Given the description of an element on the screen output the (x, y) to click on. 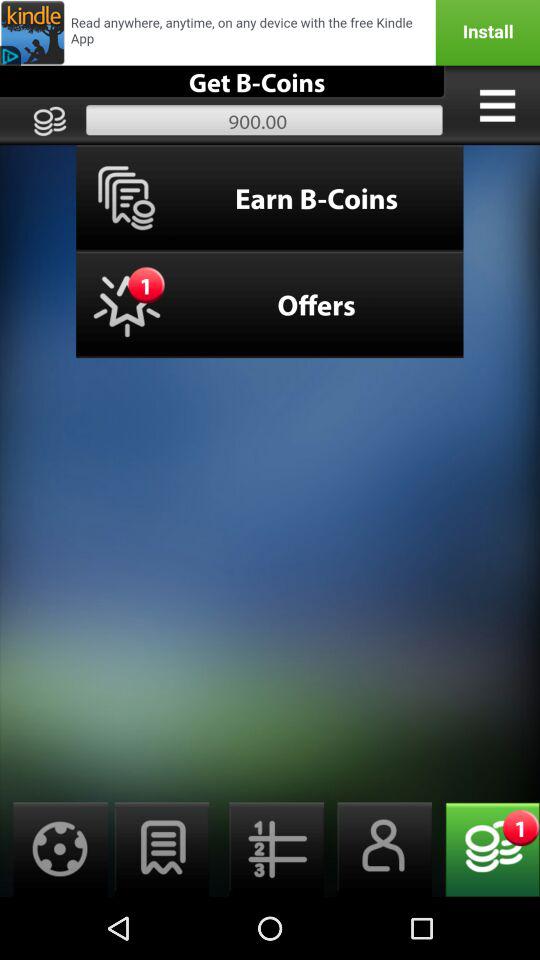
visit advertised website (270, 32)
